Given the description of an element on the screen output the (x, y) to click on. 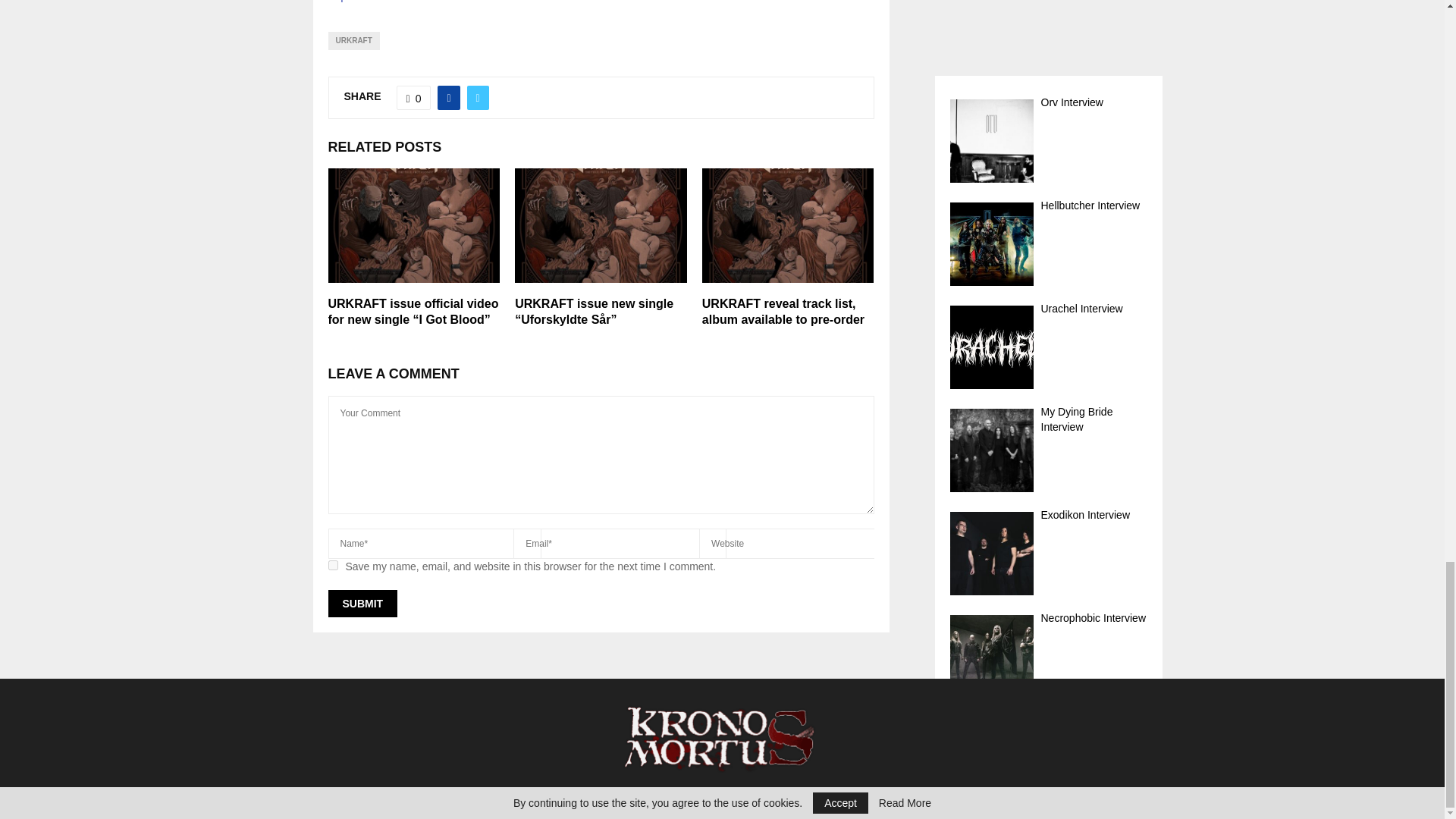
yes (332, 565)
URKRAFT reveal track list, album available to pre-order (782, 311)
Like (413, 97)
Submit (362, 603)
Submit (362, 603)
0 (413, 97)
URKRAFT (352, 40)
